Given the description of an element on the screen output the (x, y) to click on. 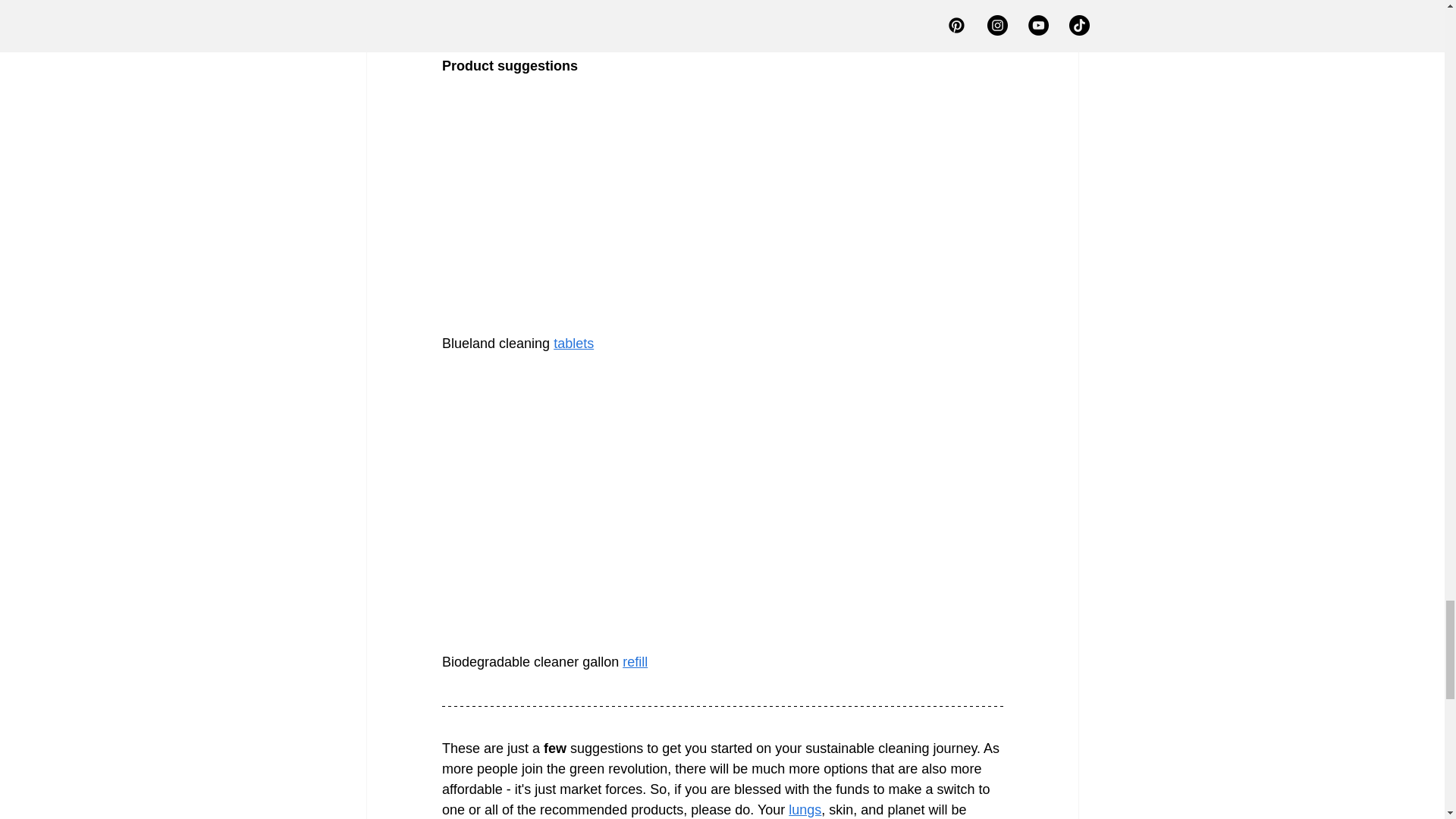
lungs (805, 809)
refill (635, 661)
tablets (573, 343)
